Given the description of an element on the screen output the (x, y) to click on. 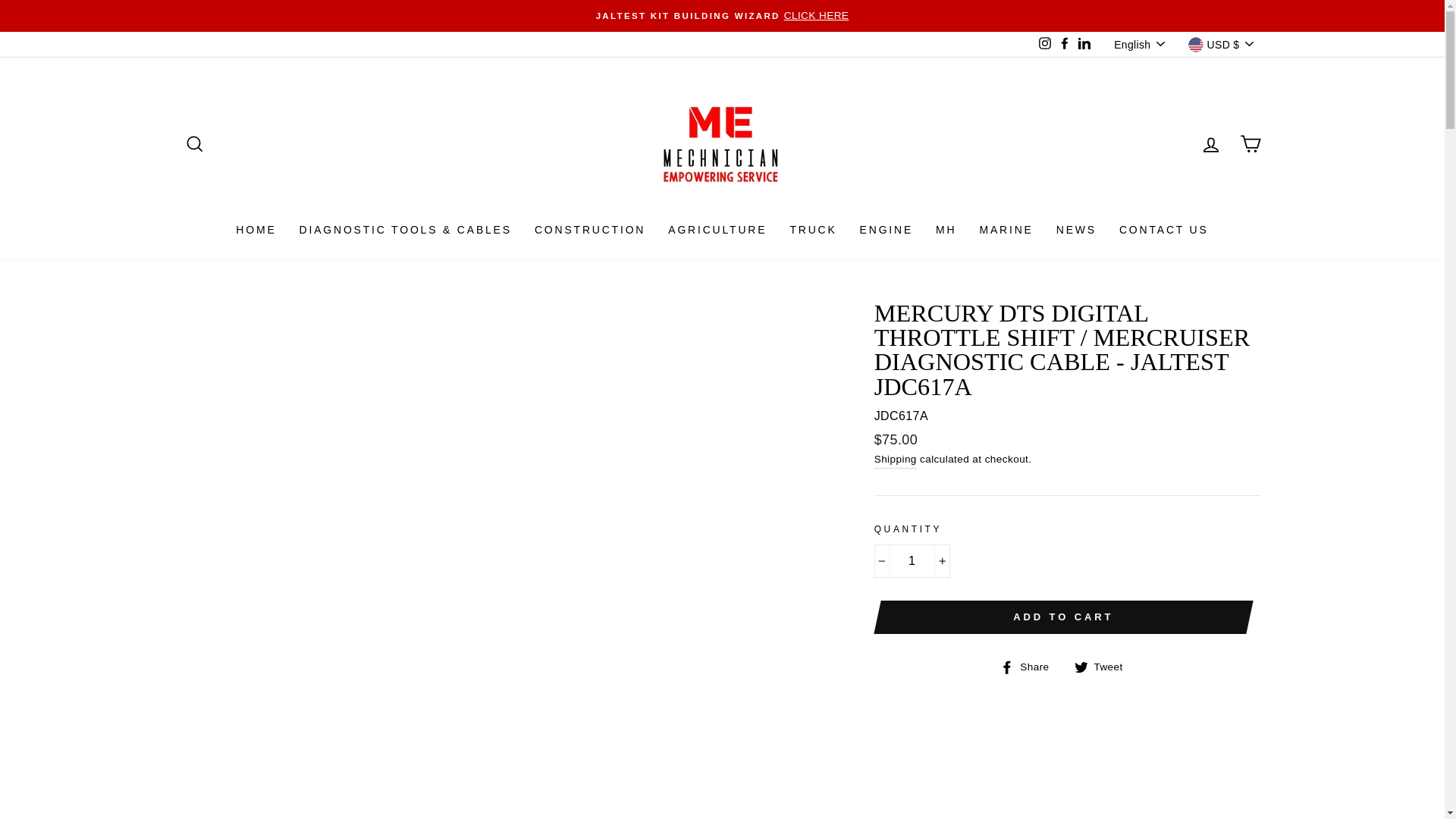
Share on Facebook (1029, 666)
1 (912, 561)
Tweet on Twitter (1104, 666)
